Given the description of an element on the screen output the (x, y) to click on. 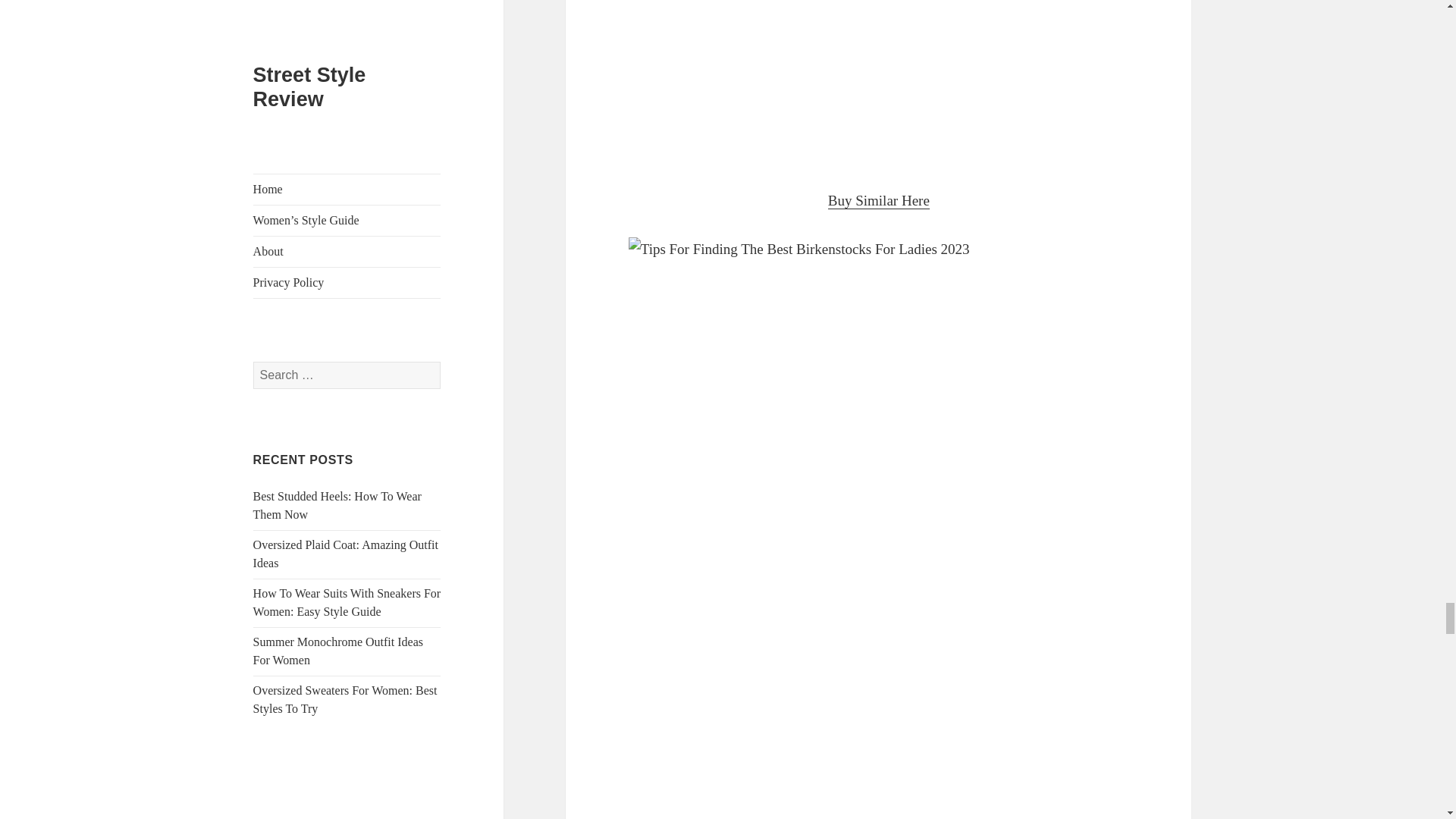
Buy Similar Here (879, 200)
